Given the description of an element on the screen output the (x, y) to click on. 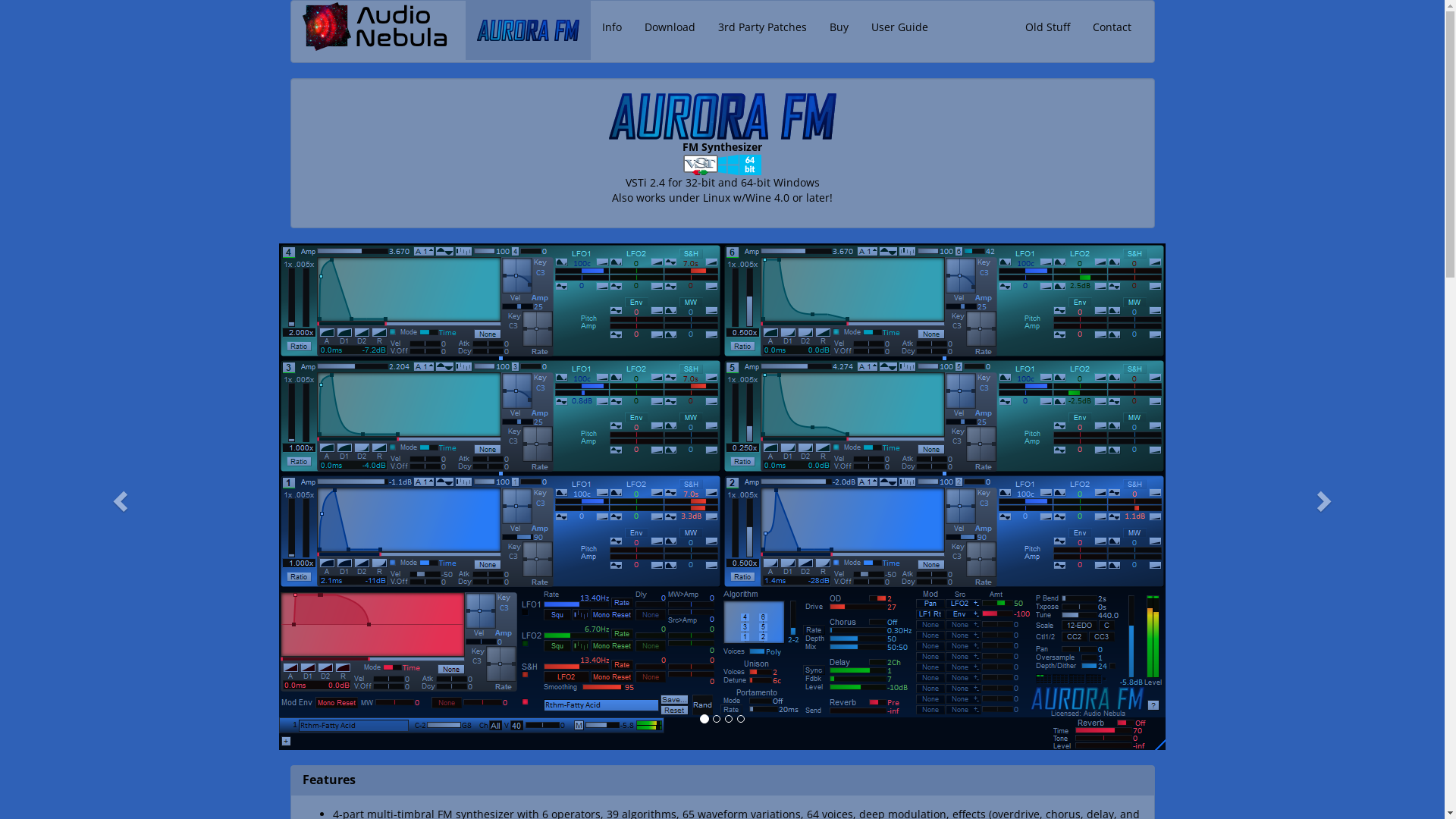
Contact Element type: text (1111, 26)
Previous Element type: text (117, 496)
Next Element type: text (1326, 496)
User Guide Element type: text (899, 26)
Buy Element type: text (838, 26)
Download Element type: text (669, 26)
Old Stuff Element type: text (1046, 26)
3rd Party Patches Element type: text (762, 26)
Info Element type: text (610, 26)
(current) Element type: text (527, 29)
